Given the description of an element on the screen output the (x, y) to click on. 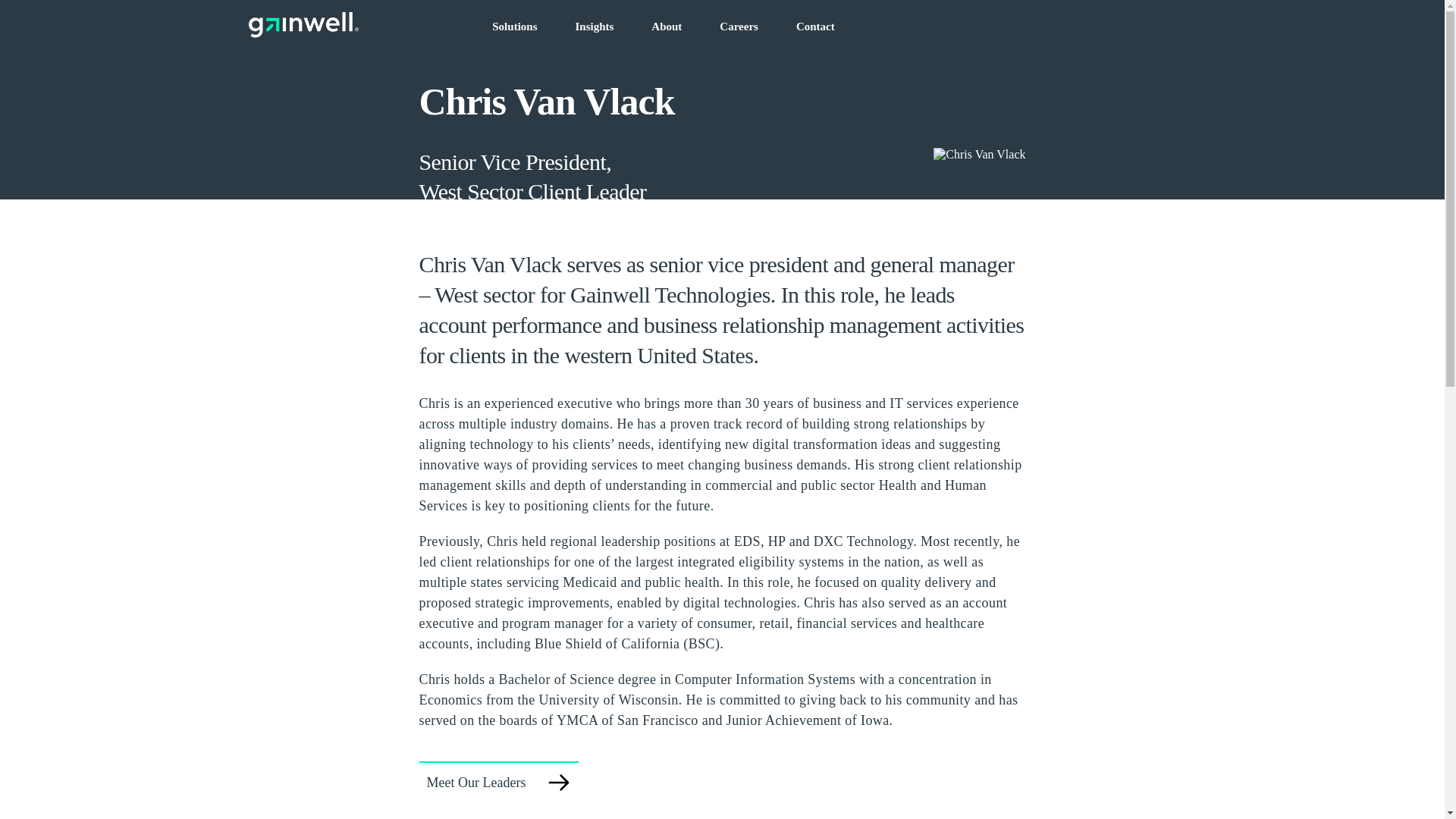
Careers (738, 26)
Solutions (514, 26)
Insights (593, 26)
Meet Our Leaders (498, 781)
Contact (815, 26)
About (665, 26)
